Given the description of an element on the screen output the (x, y) to click on. 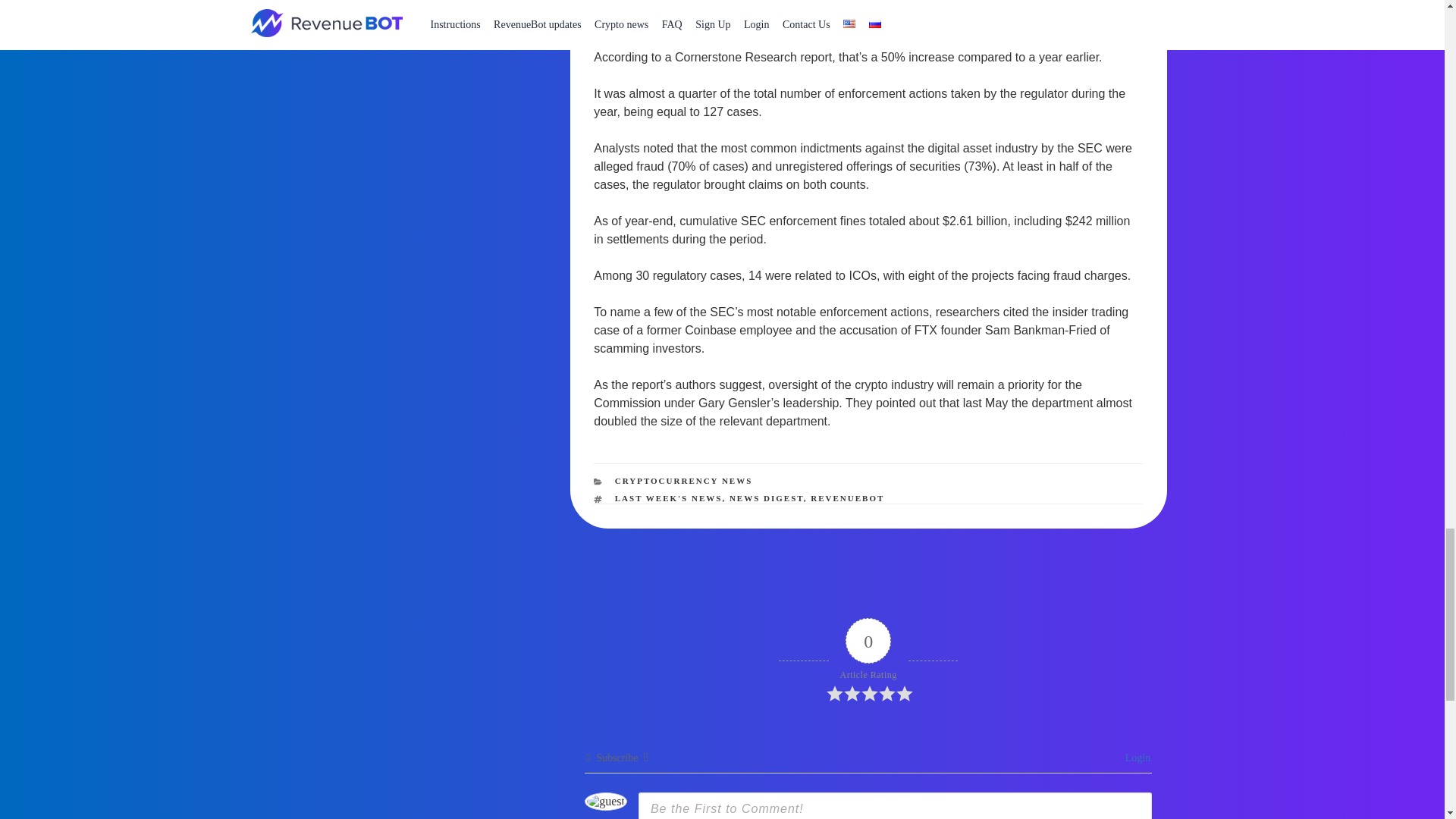
LAST WEEK'S NEWS (668, 497)
Login (1135, 757)
REVENUEBOT (846, 497)
CRYPTOCURRENCY NEWS (683, 480)
NEWS DIGEST (766, 497)
